Given the description of an element on the screen output the (x, y) to click on. 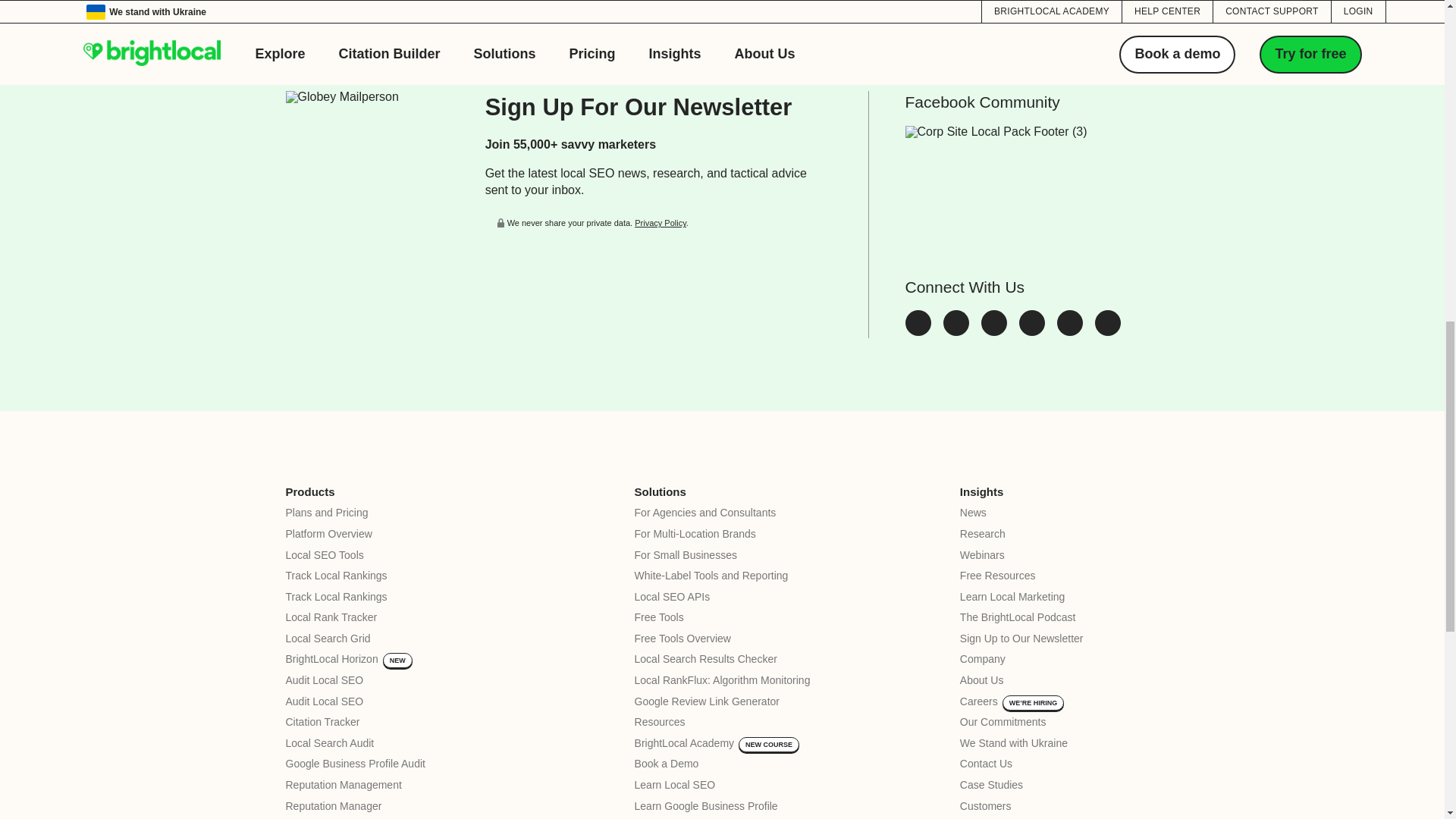
Twitter (918, 331)
Linkedin (994, 331)
Instagram (1032, 331)
YouTube (1070, 331)
Facebook (956, 331)
Privacy Policy (659, 222)
The Local Pack (1107, 331)
